Given the description of an element on the screen output the (x, y) to click on. 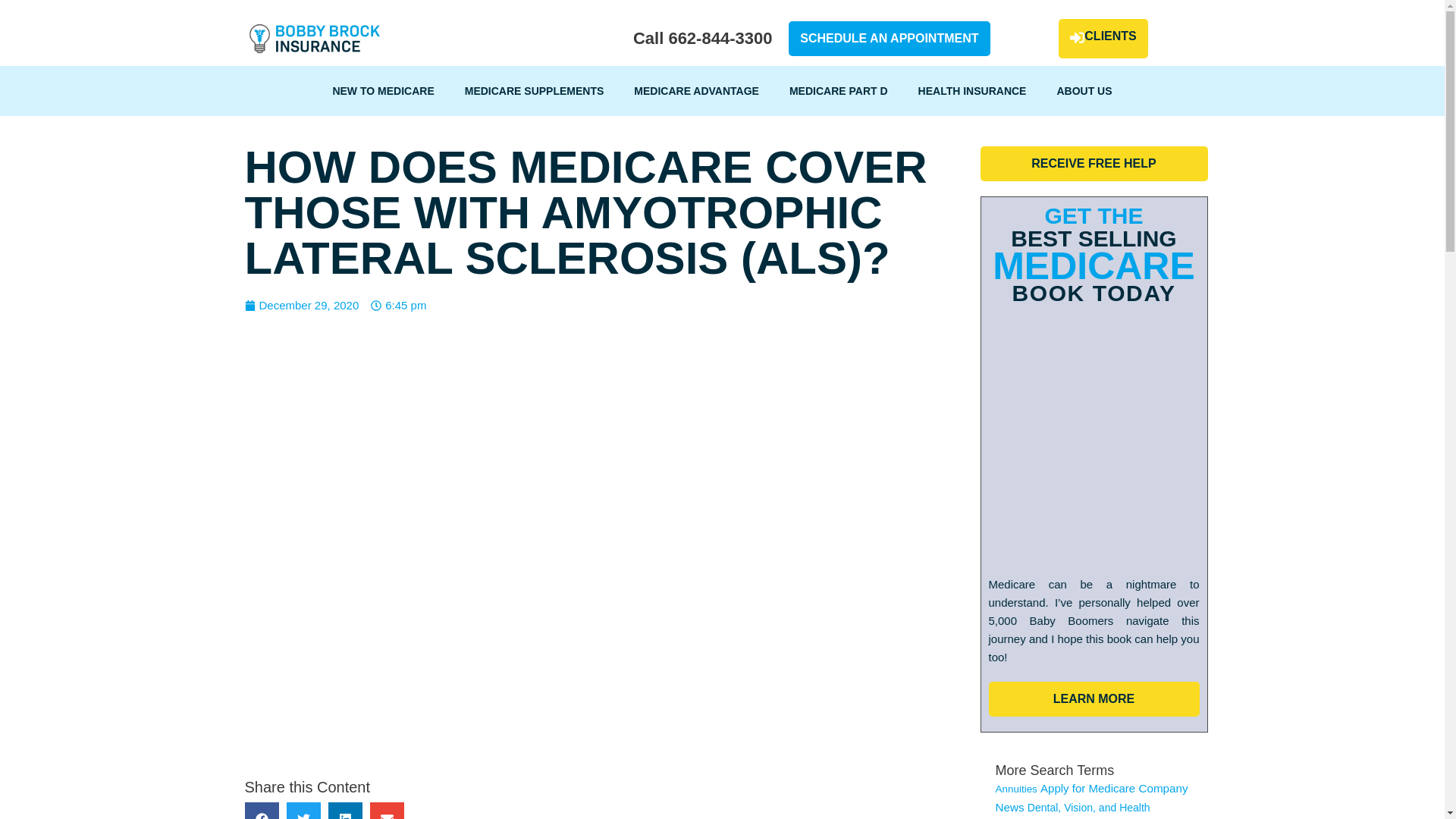
NEW TO MEDICARE (382, 90)
MEDICARE SUPPLEMENTS (534, 90)
CLIENTS (1103, 38)
Call 662-844-3300 (702, 37)
SCHEDULE AN APPOINTMENT (889, 38)
MEDICARE ADVANTAGE (696, 90)
